Given the description of an element on the screen output the (x, y) to click on. 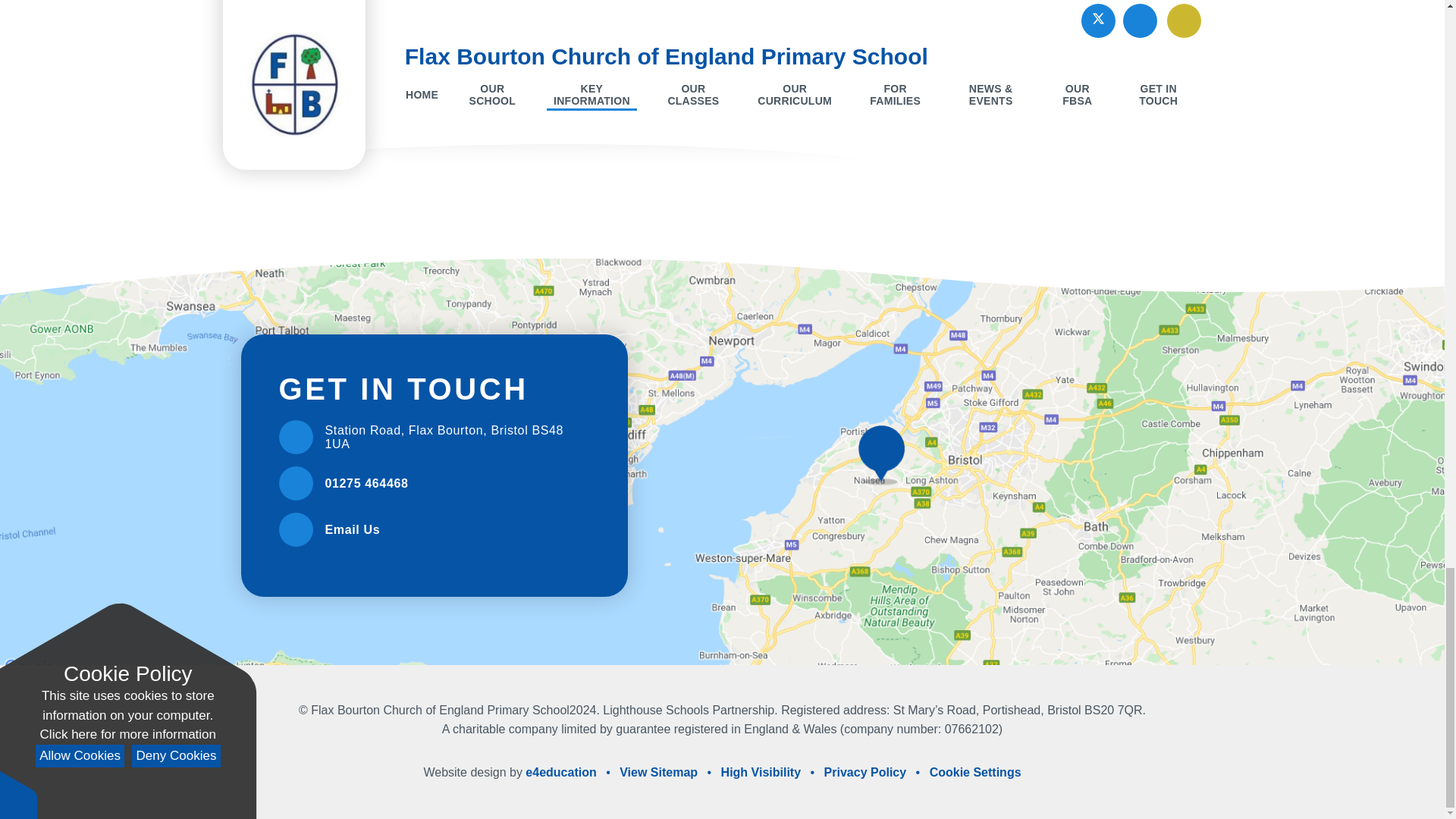
Cookie Settings (976, 771)
